Given the description of an element on the screen output the (x, y) to click on. 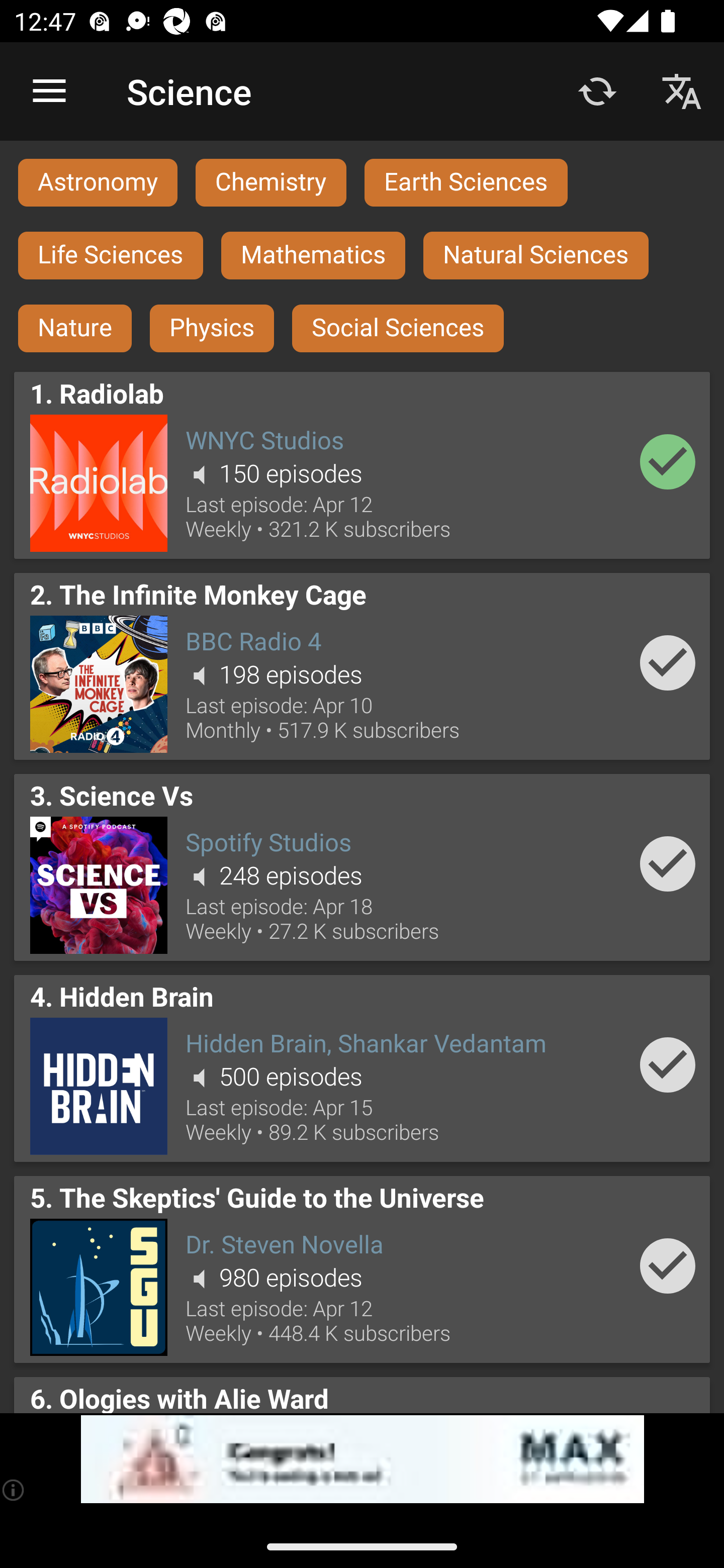
Open navigation sidebar (49, 91)
Update top podcasts list (597, 90)
Podcast languages (681, 90)
Astronomy (97, 182)
Chemistry (270, 182)
Earth Sciences (465, 182)
Life Sciences (110, 255)
Mathematics (313, 255)
Natural Sciences (535, 255)
Nature (74, 328)
Physics (211, 328)
Social Sciences (397, 328)
Add (667, 461)
Add (667, 662)
Add (667, 863)
Add (667, 1064)
Add (667, 1265)
app-monetization (362, 1459)
(i) (14, 1489)
